Given the description of an element on the screen output the (x, y) to click on. 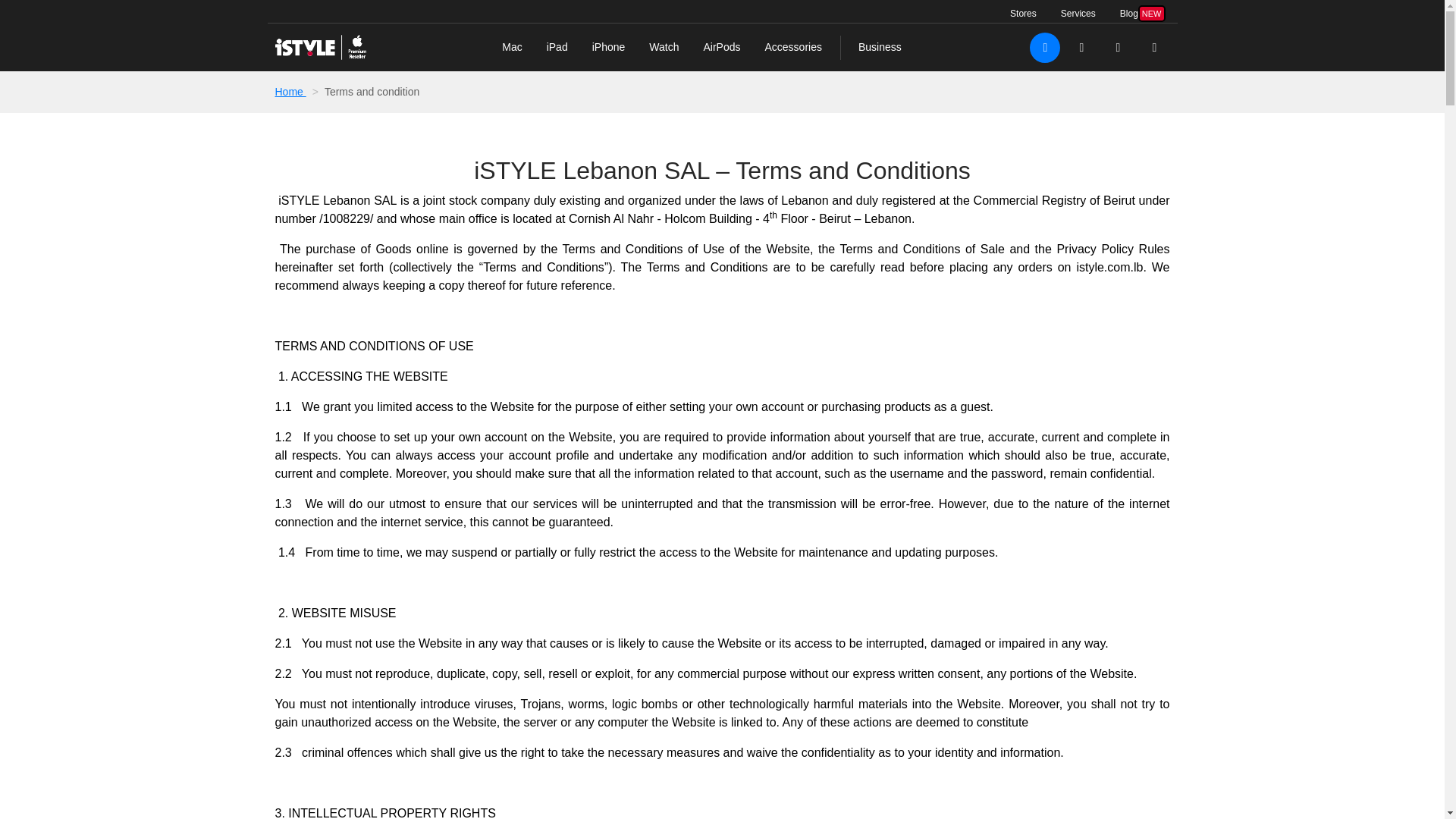
iPhone (608, 46)
iPad (556, 46)
Services (1078, 13)
Mac (511, 46)
iSTYLE Lebanon (1142, 13)
Go to Home Page (320, 47)
Stores (299, 91)
